Given the description of an element on the screen output the (x, y) to click on. 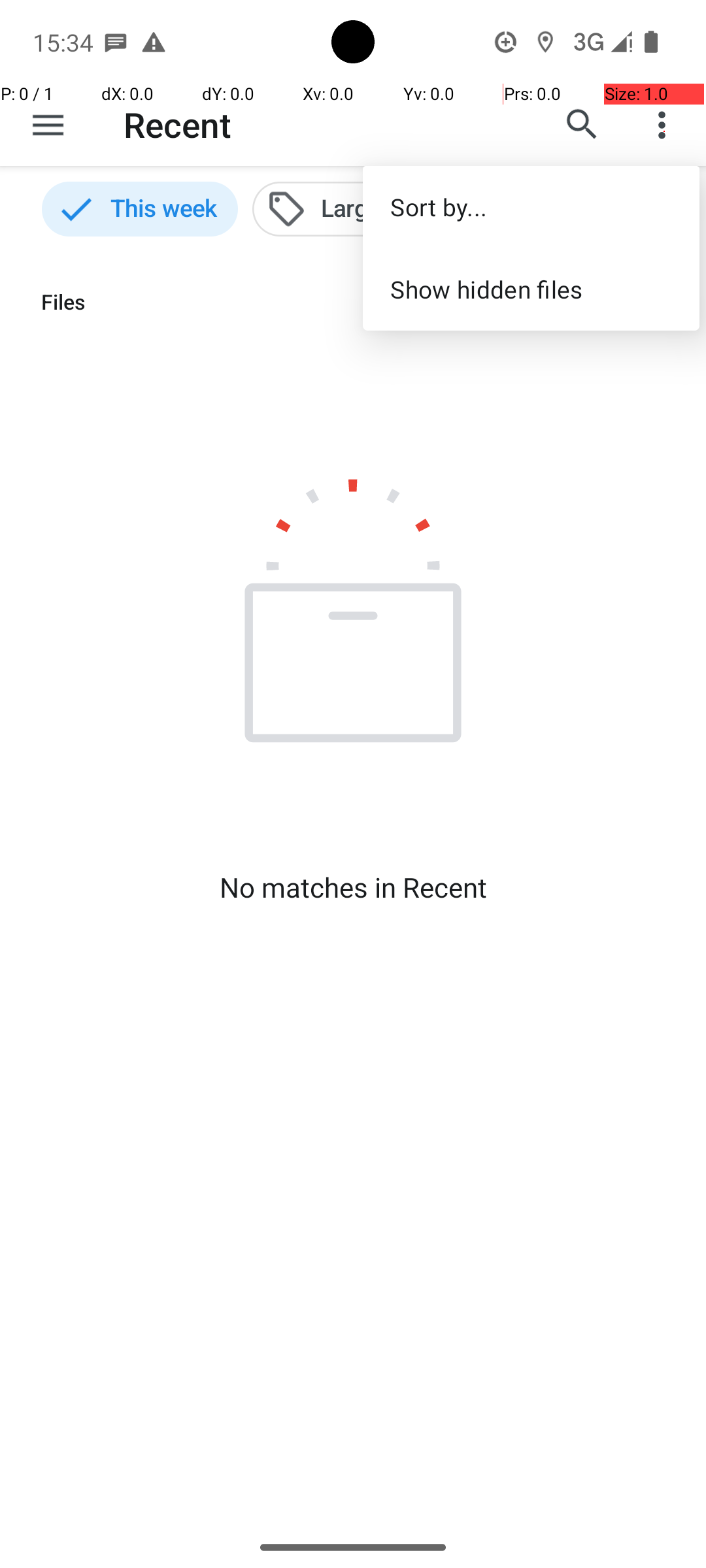
Sort by... Element type: android.widget.TextView (531, 206)
Show hidden files Element type: android.widget.TextView (531, 288)
